Given the description of an element on the screen output the (x, y) to click on. 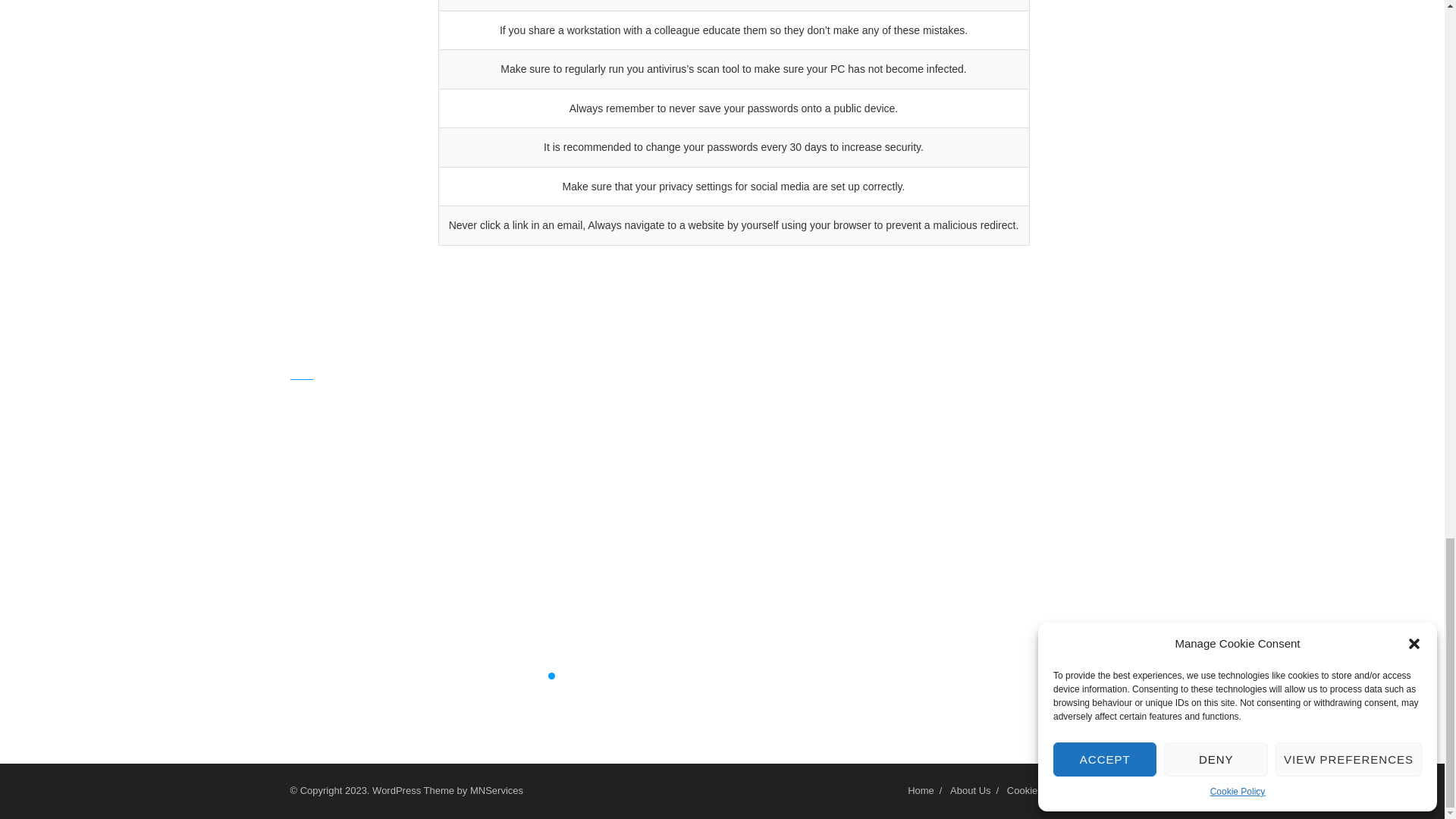
WordPress Theme (413, 790)
Contact Us (1129, 790)
Home (920, 790)
About Us (970, 790)
